Given the description of an element on the screen output the (x, y) to click on. 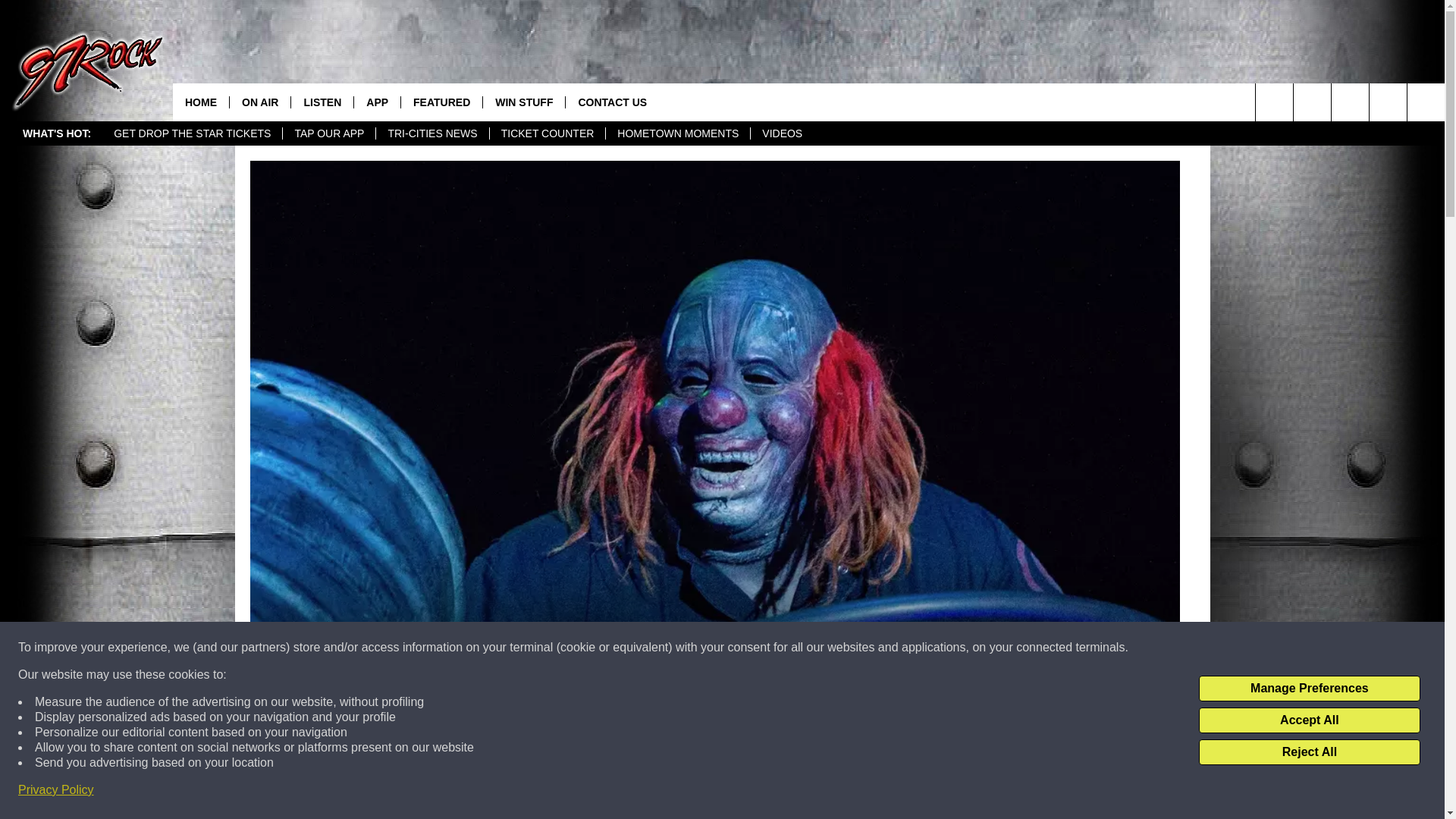
Accept All (1309, 720)
TRI-CITIES NEWS (431, 133)
ON AIR (258, 102)
TICKET COUNTER (547, 133)
Share on Twitter (912, 791)
TAP OUR APP (328, 133)
LISTEN (321, 102)
Manage Preferences (1309, 688)
FEATURED (440, 102)
HOMETOWN MOMENTS (677, 133)
Privacy Policy (55, 789)
WHAT'S HOT: (56, 133)
HOME (200, 102)
GET DROP THE STAR TICKETS (191, 133)
APP (376, 102)
